Given the description of an element on the screen output the (x, y) to click on. 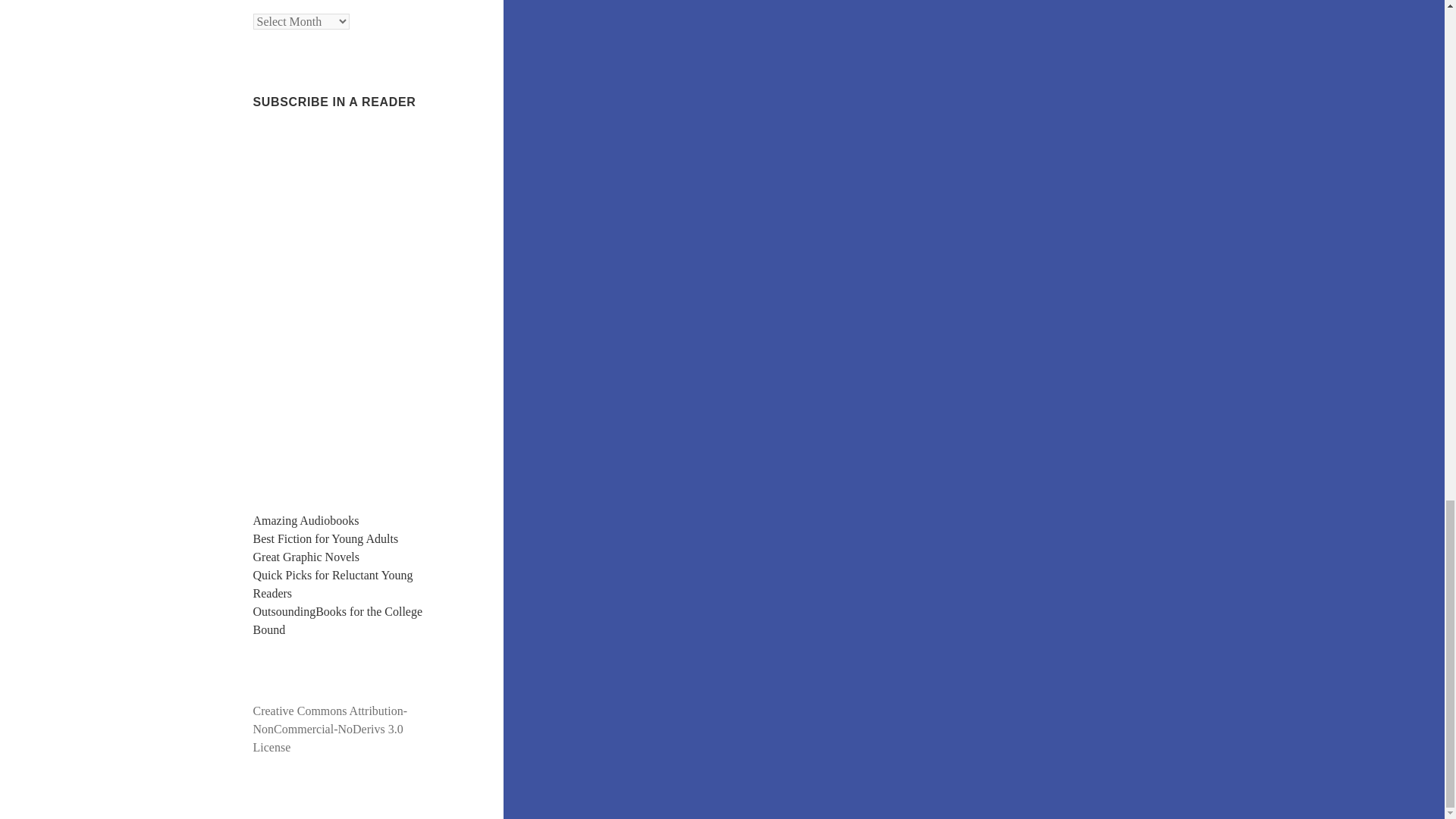
Amazing Audiobooks (306, 520)
OutsoundingBooks for the College Bound (338, 620)
Quick Picks for Reluctant Young Readers (333, 583)
Great Graphic Novels (306, 556)
Best Fiction for Young Adults (325, 538)
